Given the description of an element on the screen output the (x, y) to click on. 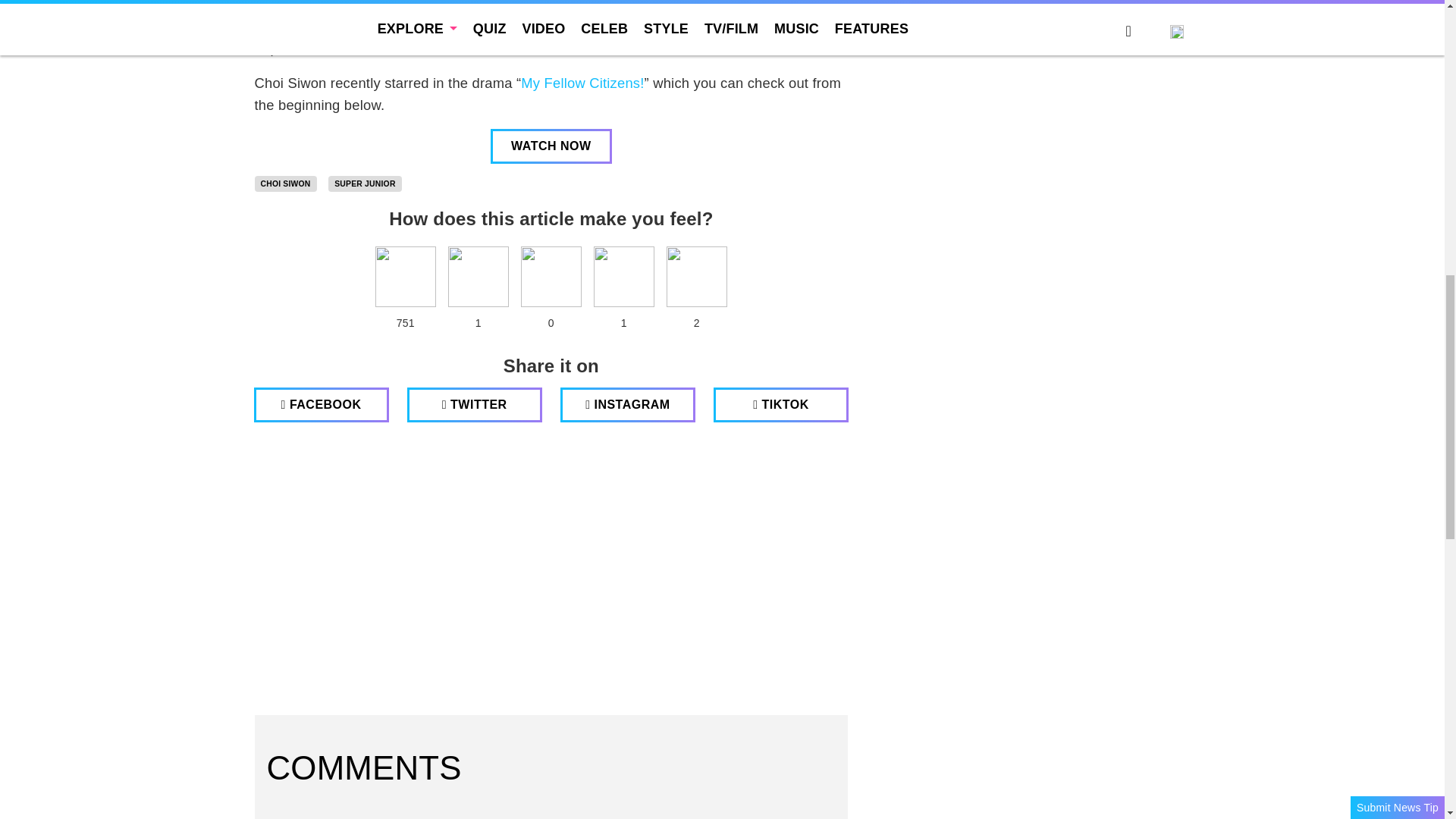
Heart (405, 276)
heart (405, 276)
fire (550, 276)
lol (478, 276)
My Fellow Citizens! (582, 82)
LOL (478, 276)
CHOI SIWON (285, 184)
SUPER JUNIOR (365, 184)
Crying (623, 276)
Super Junior (365, 184)
